Given the description of an element on the screen output the (x, y) to click on. 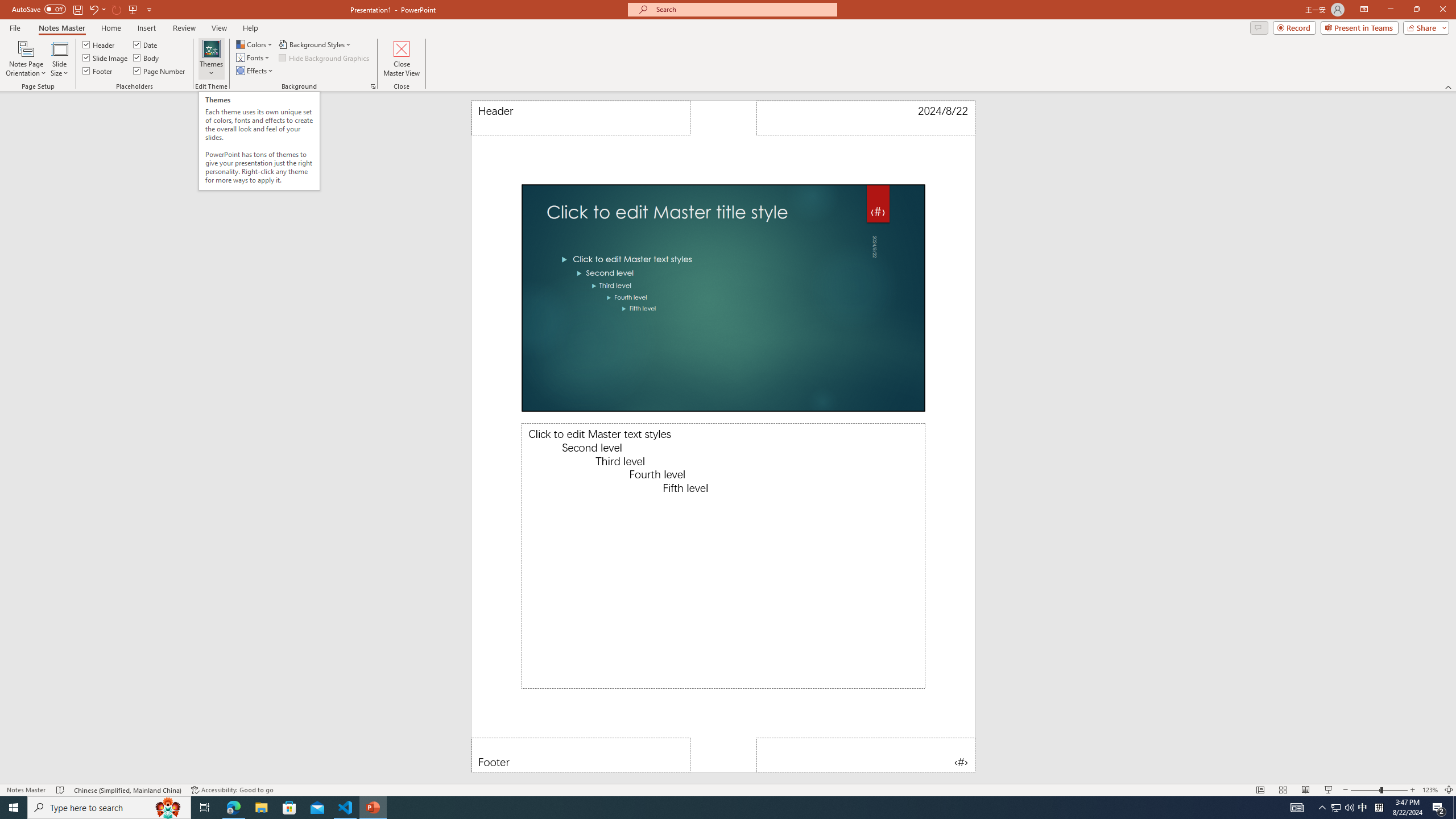
Date (146, 44)
Themes (211, 58)
Fonts (253, 56)
Header (98, 44)
Footer (580, 754)
Hide Background Graphics (324, 56)
Notes Page Orientation (26, 58)
Close Master View (400, 58)
Page Number (866, 754)
